Given the description of an element on the screen output the (x, y) to click on. 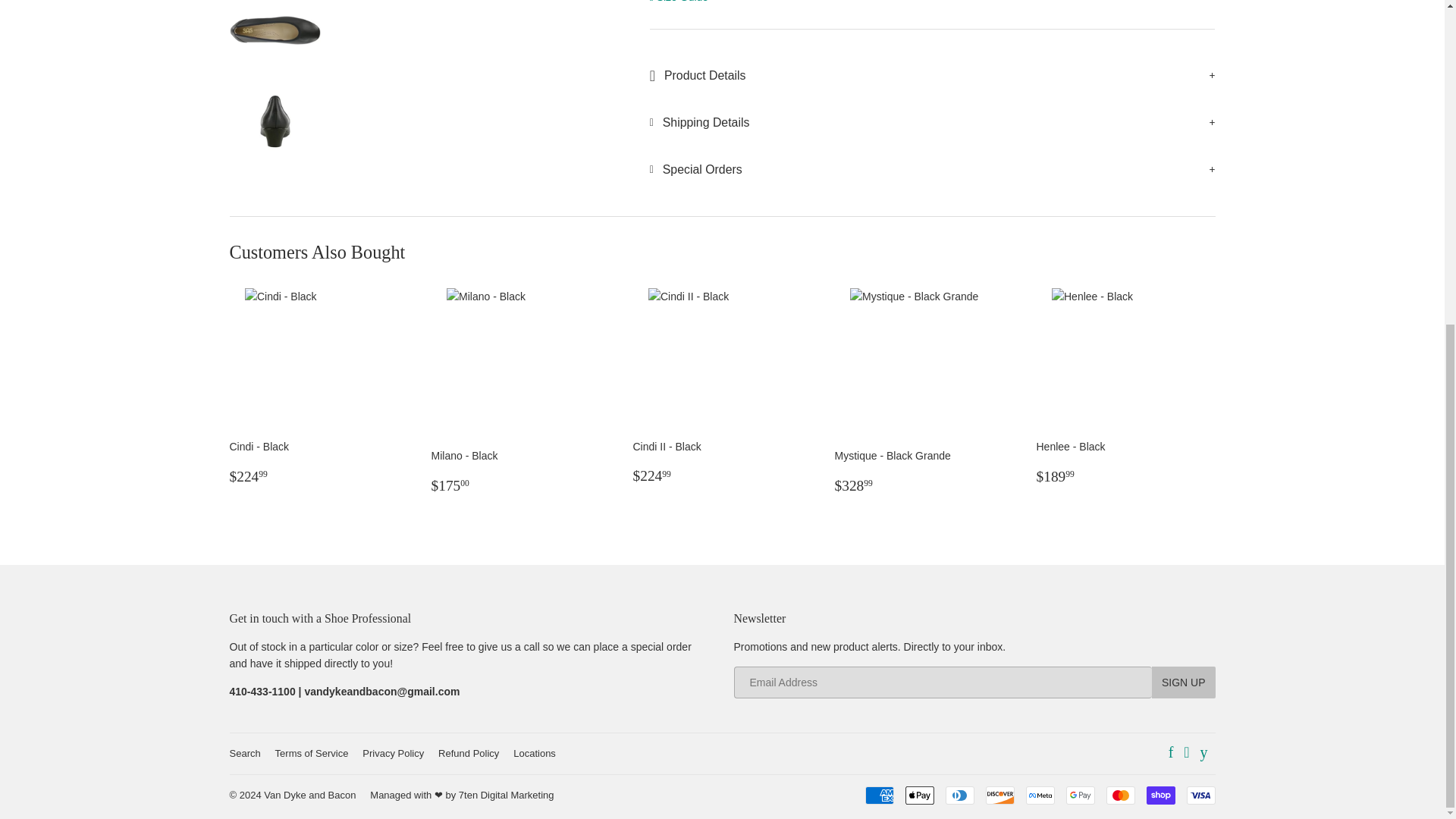
Diners Club (959, 795)
Discover (999, 795)
Meta Pay (1039, 795)
Apple Pay (919, 795)
American Express (878, 795)
Mastercard (1119, 795)
Shop Pay (1160, 795)
Google Pay (1079, 795)
Visa (1200, 795)
